Given the description of an element on the screen output the (x, y) to click on. 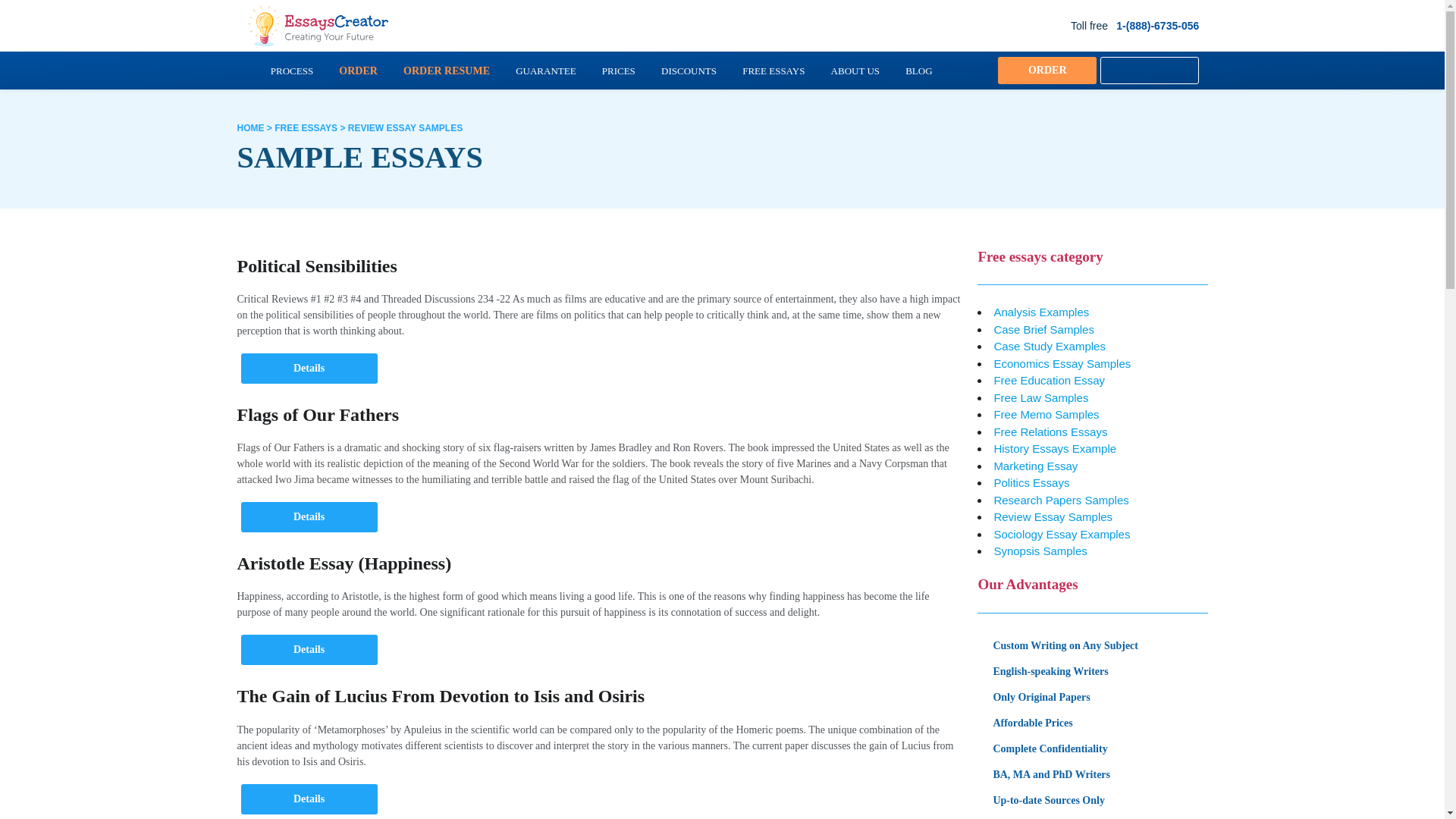
Details (309, 368)
ORDER (1046, 70)
FREE ESSAYS (306, 127)
Details (309, 649)
Details (309, 798)
HOME (249, 127)
ORDER (357, 71)
Go to Free Essays. (306, 127)
DISCOUNTS (688, 71)
The Gain of Lucius From Devotion to Isis and Osiris (440, 695)
